Given the description of an element on the screen output the (x, y) to click on. 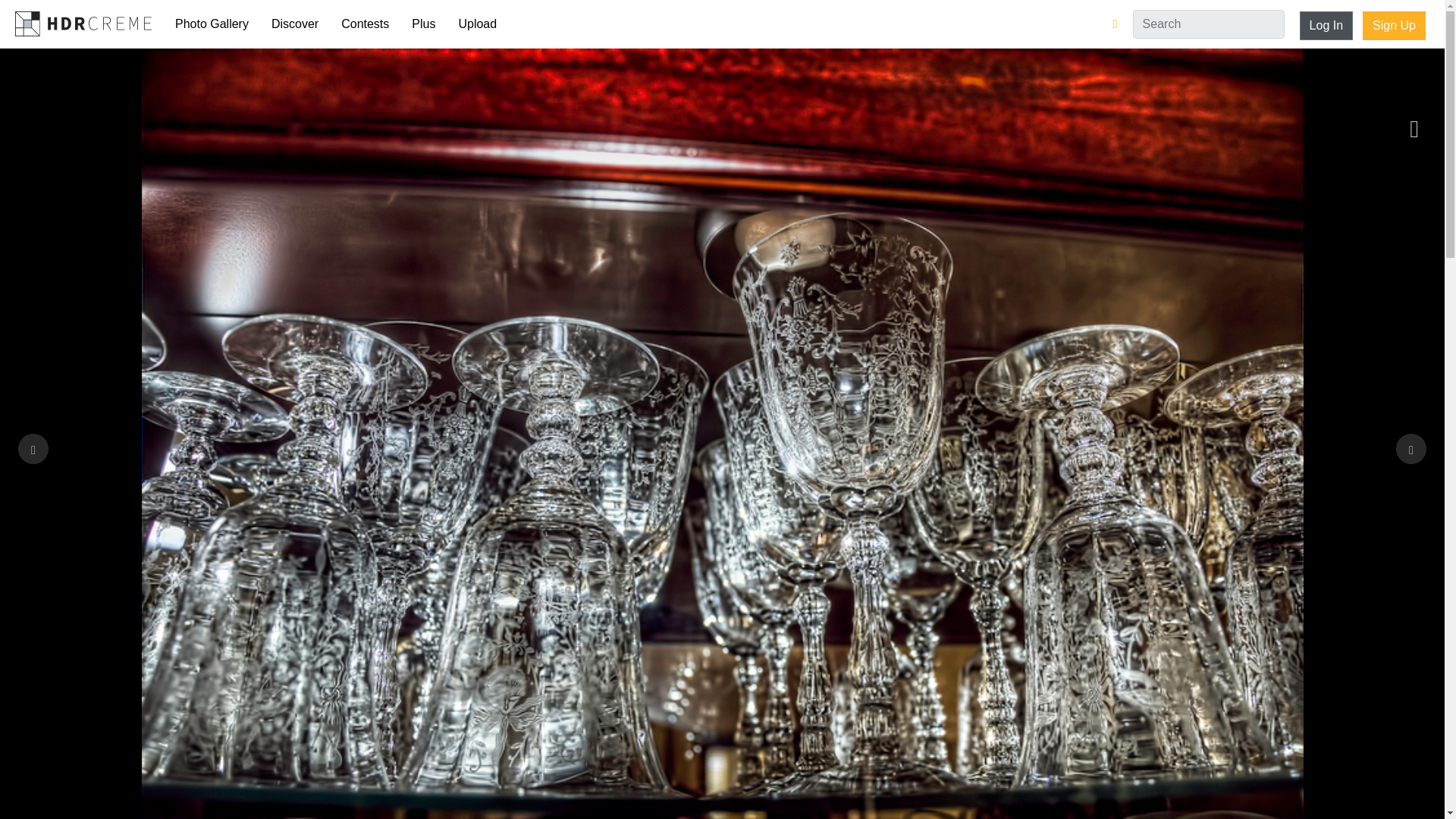
Log In (1326, 25)
Next Picture (1411, 449)
Previous Picture (32, 449)
Contests (365, 24)
Upload (477, 24)
Discover (295, 24)
Plus (423, 24)
Home Page (82, 23)
Sign Up (1393, 25)
hdrcreme logo (82, 23)
